Given the description of an element on the screen output the (x, y) to click on. 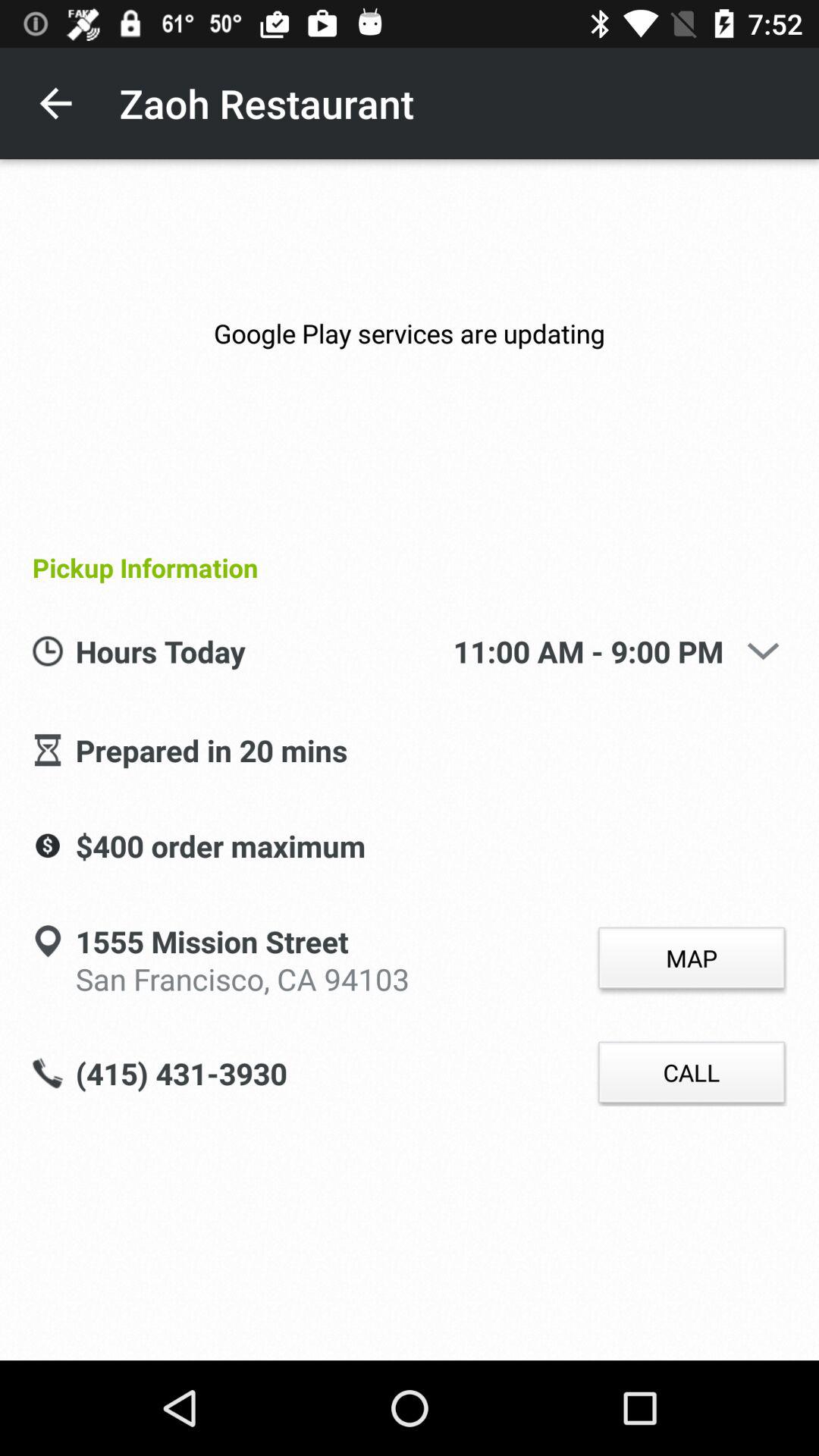
press icon to the left of the map item (211, 942)
